Given the description of an element on the screen output the (x, y) to click on. 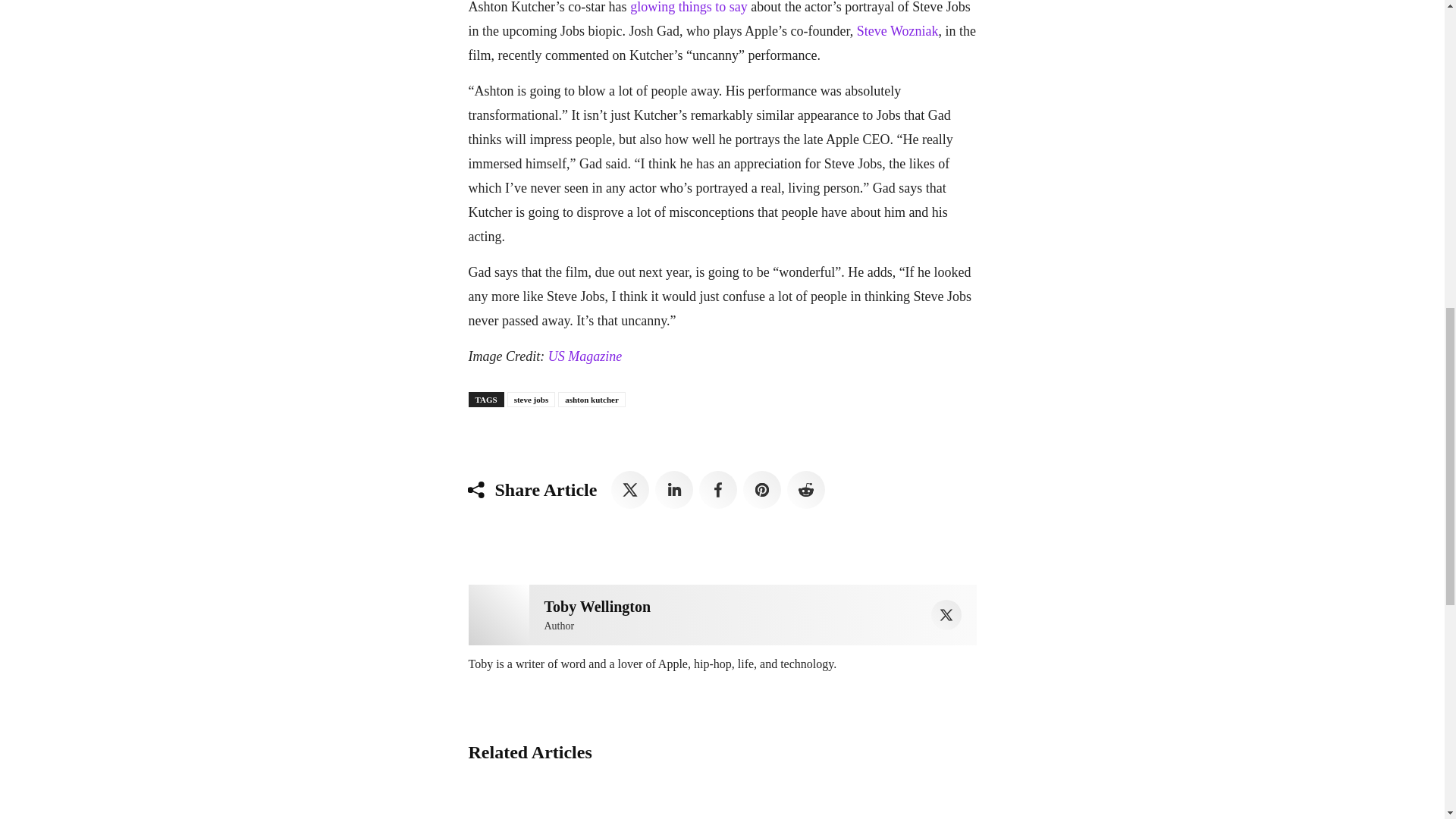
Steve Wozniak (898, 30)
Toby Wellington (597, 606)
ReddIt (806, 489)
glowing things to say (689, 7)
ashton kutcher (591, 399)
Linkedin (674, 489)
Twitter (945, 614)
Facebook (717, 489)
Pinterest (761, 489)
Toby Wellington (498, 614)
